Given the description of an element on the screen output the (x, y) to click on. 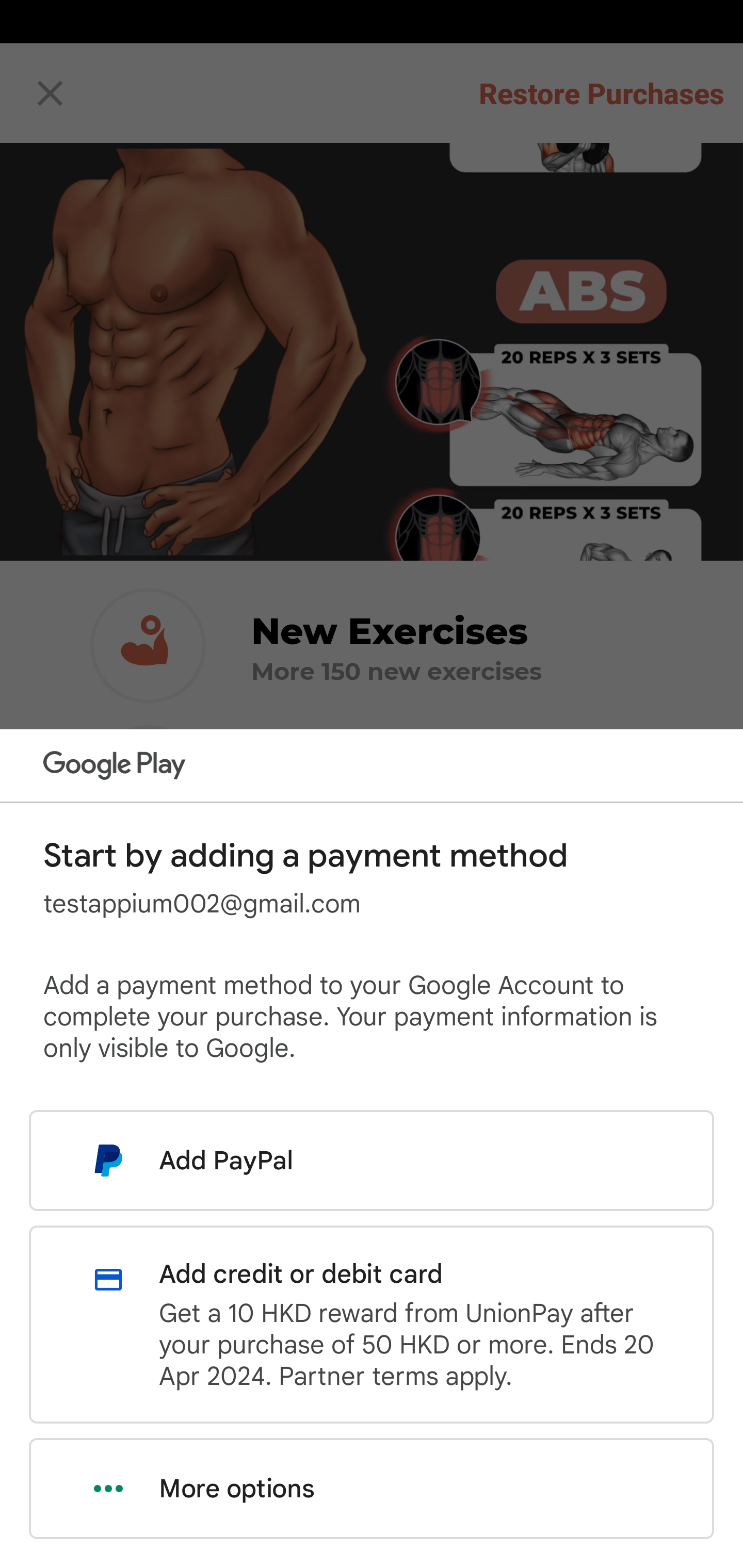
Add PayPal (371, 1160)
More options (371, 1488)
